Given the description of an element on the screen output the (x, y) to click on. 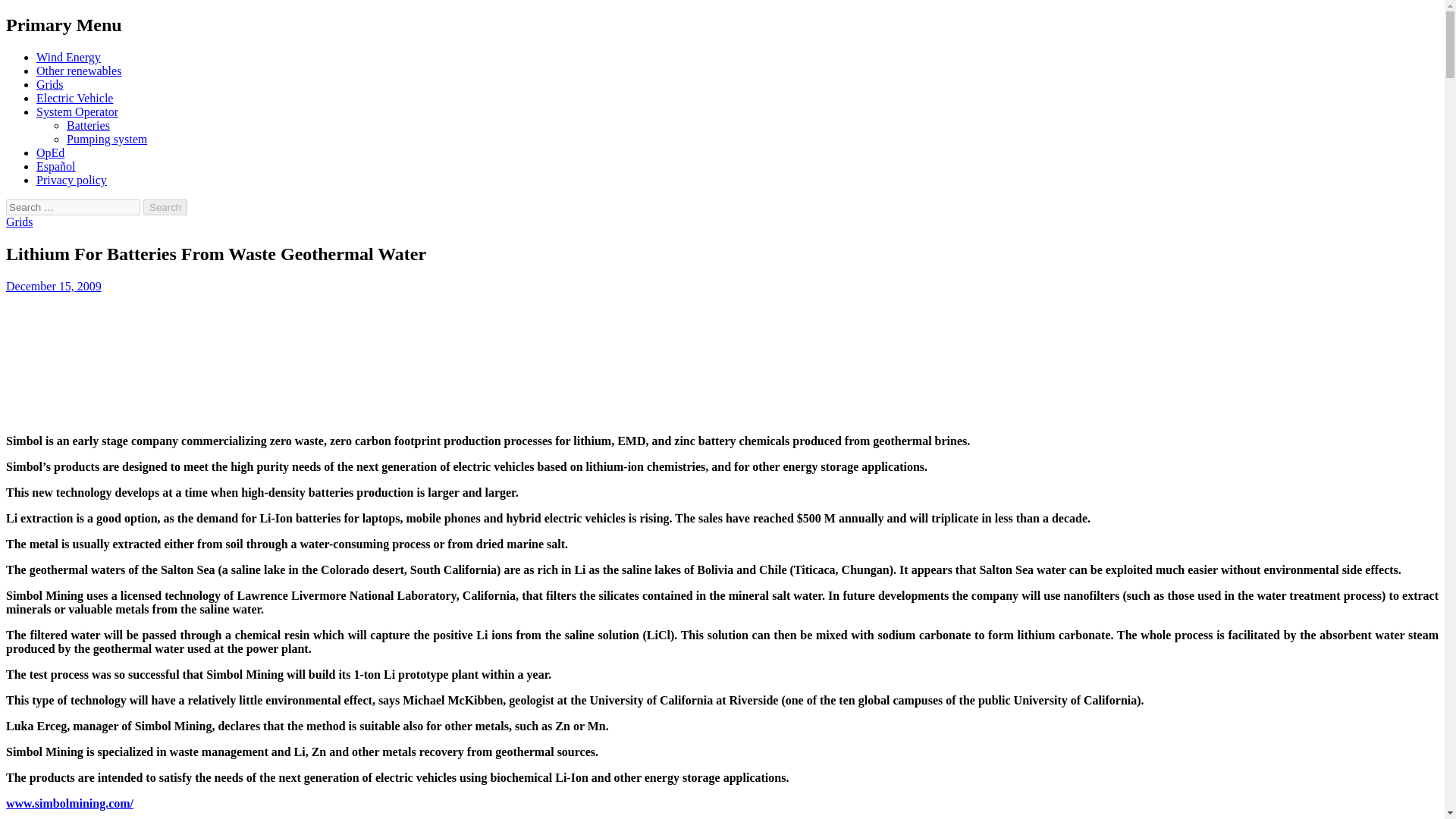
Batteries (88, 124)
Search (164, 207)
Electric Vehicle (74, 97)
Search (164, 207)
Privacy policy (71, 179)
Pumping system (106, 138)
Search (164, 207)
December 15, 2009 (53, 286)
